Given the description of an element on the screen output the (x, y) to click on. 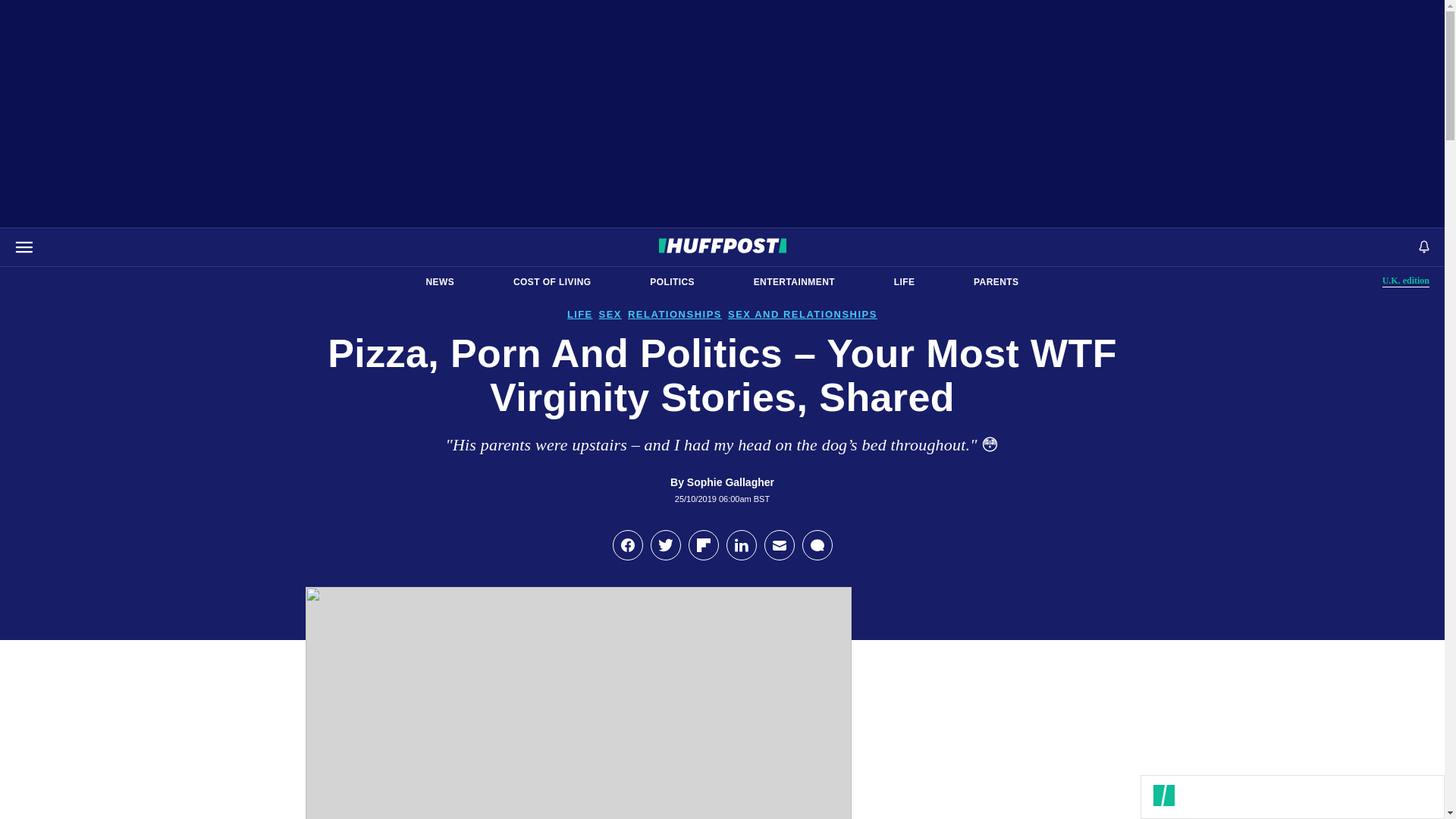
POLITICS (671, 281)
LIFE (904, 281)
ENTERTAINMENT (794, 281)
COST OF LIVING (552, 281)
PARENTS (1405, 281)
NEWS (995, 281)
